Given the description of an element on the screen output the (x, y) to click on. 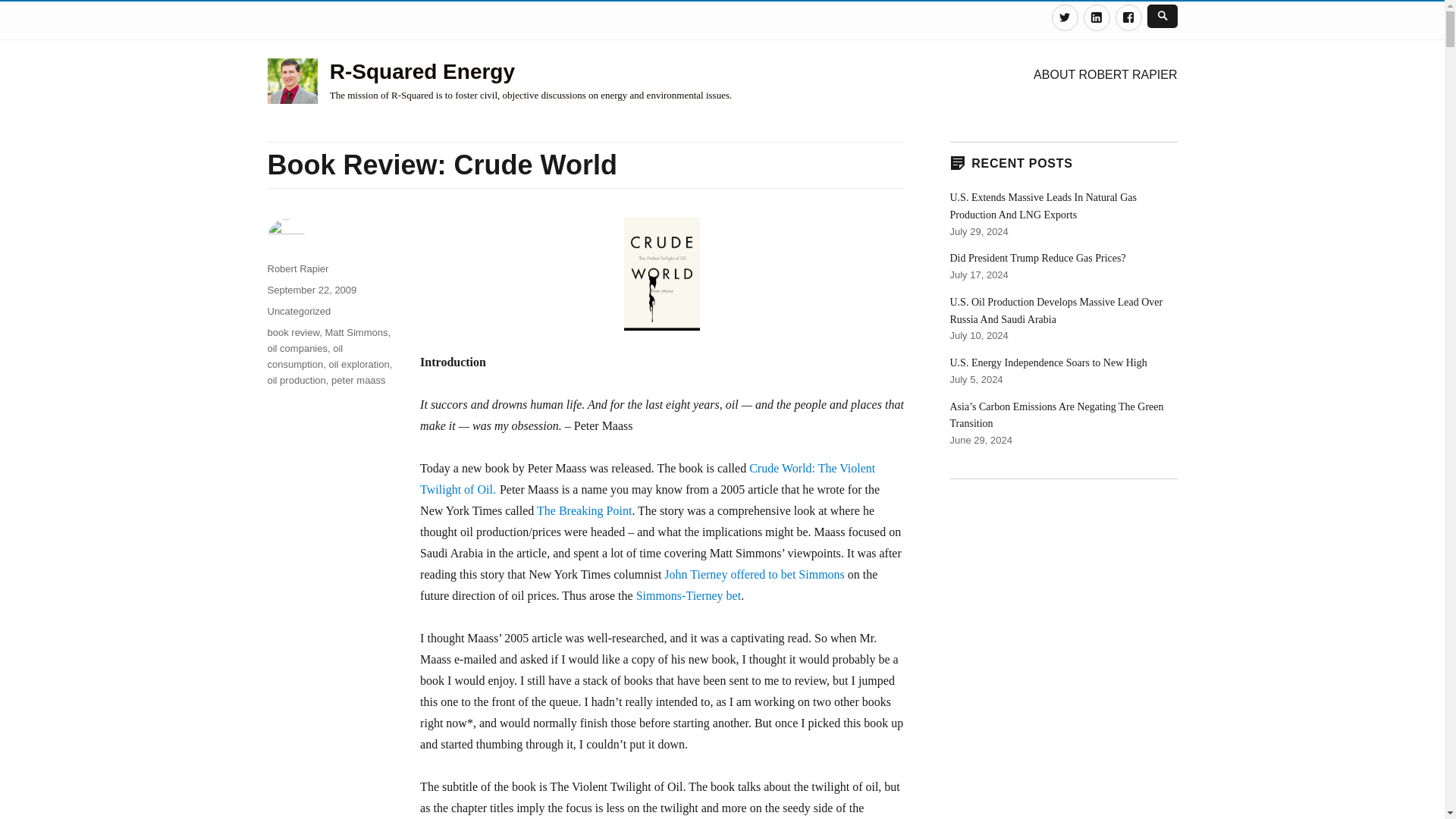
oil consumption (304, 356)
John Tierney offered to bet Simmons (753, 574)
Crude World: The Violent Twilight of Oil. (647, 478)
Linkedin (1096, 17)
oil production (295, 379)
oil companies (296, 348)
Simmons-Tierney bet (688, 594)
oil exploration (358, 364)
The Breaking Point (584, 510)
Robert Rapier (297, 268)
R-Squared Energy (422, 71)
Uncategorized (298, 310)
Simmons-Tierney bet (688, 594)
September 22, 2009 (311, 289)
ABOUT ROBERT RAPIER (1105, 74)
